Given the description of an element on the screen output the (x, y) to click on. 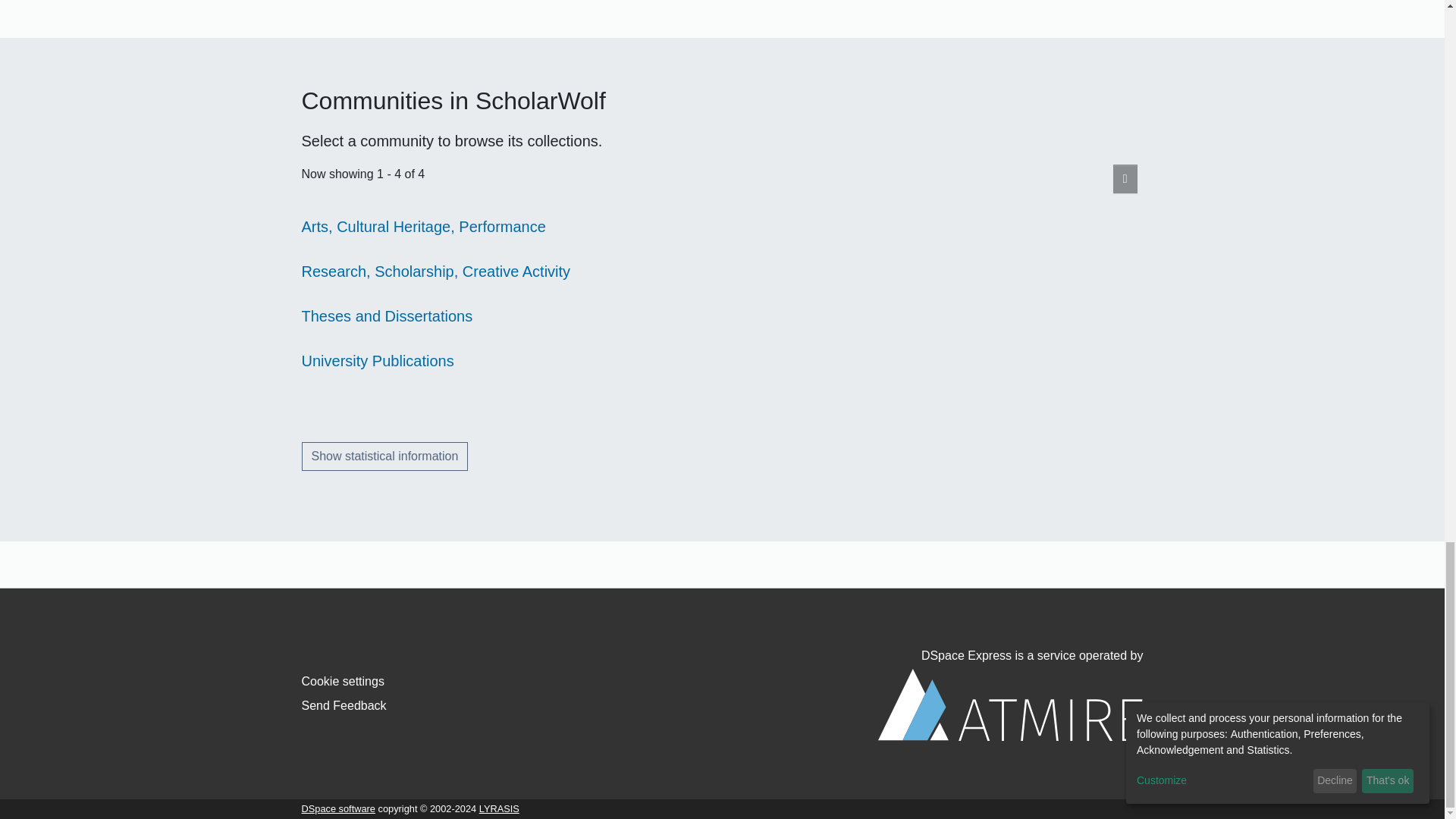
Show statistical information (384, 456)
Cookie settings (342, 680)
Theses and Dissertations (387, 315)
Research, Scholarship, Creative Activity (435, 271)
University Publications (377, 360)
Send Feedback (344, 705)
Arts, Cultural Heritage, Performance (423, 226)
